Given the description of an element on the screen output the (x, y) to click on. 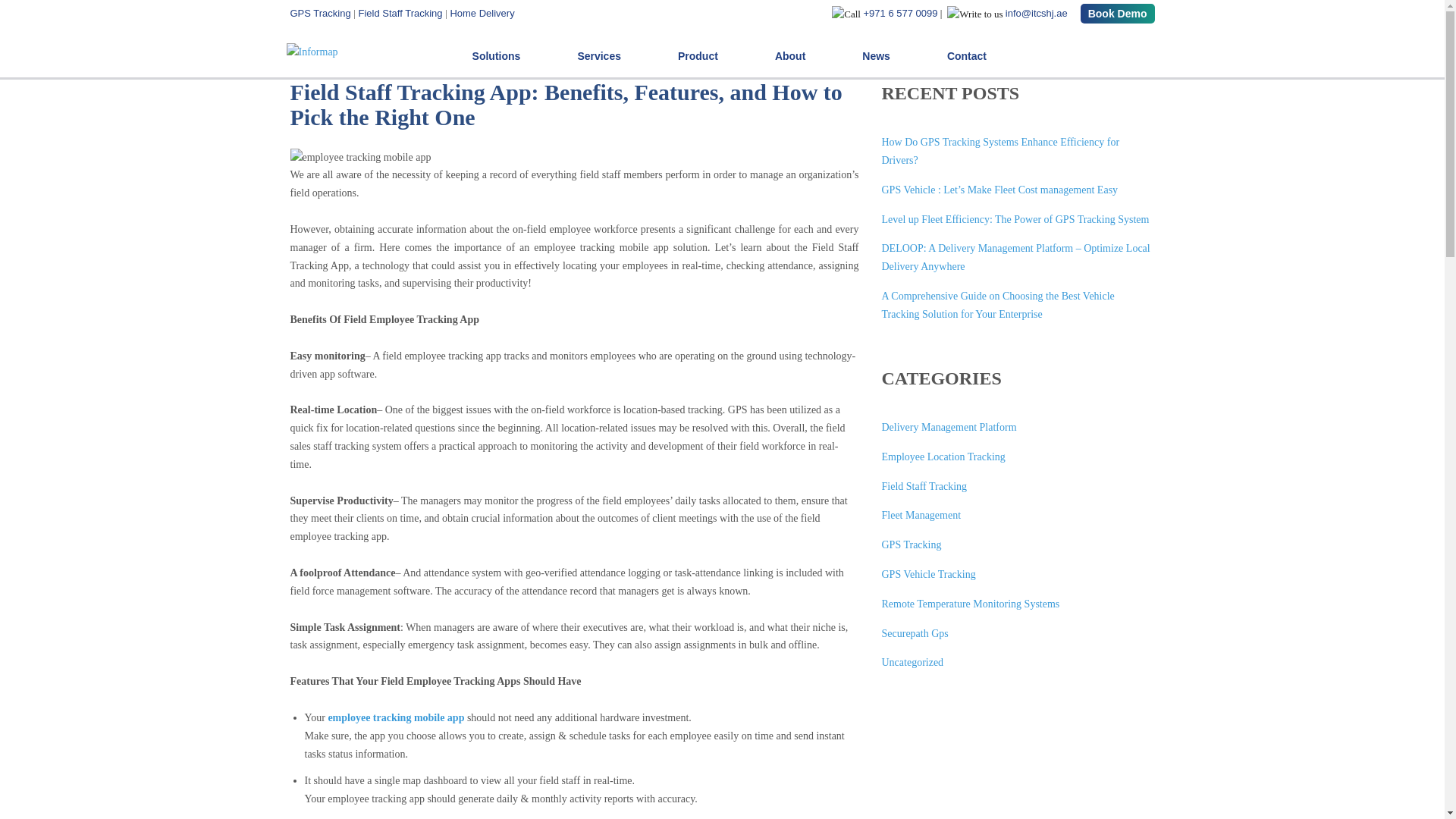
Informap (314, 50)
Field Staff Tracking (400, 12)
Home Delivery (480, 12)
GPS Tracking (321, 12)
Book Demo (1117, 13)
Solutions (496, 55)
